Given the description of an element on the screen output the (x, y) to click on. 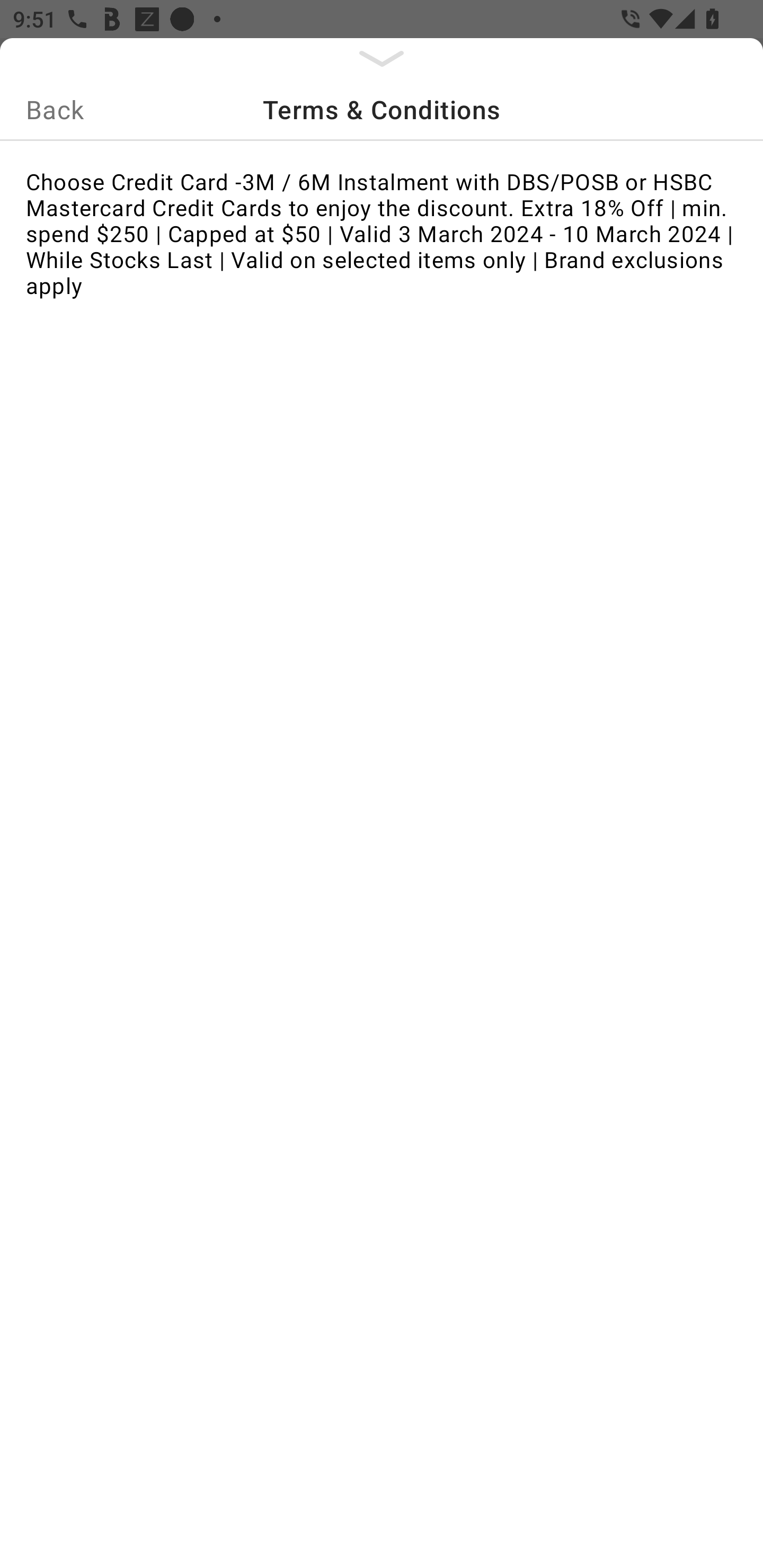
Back (54, 109)
